Given the description of an element on the screen output the (x, y) to click on. 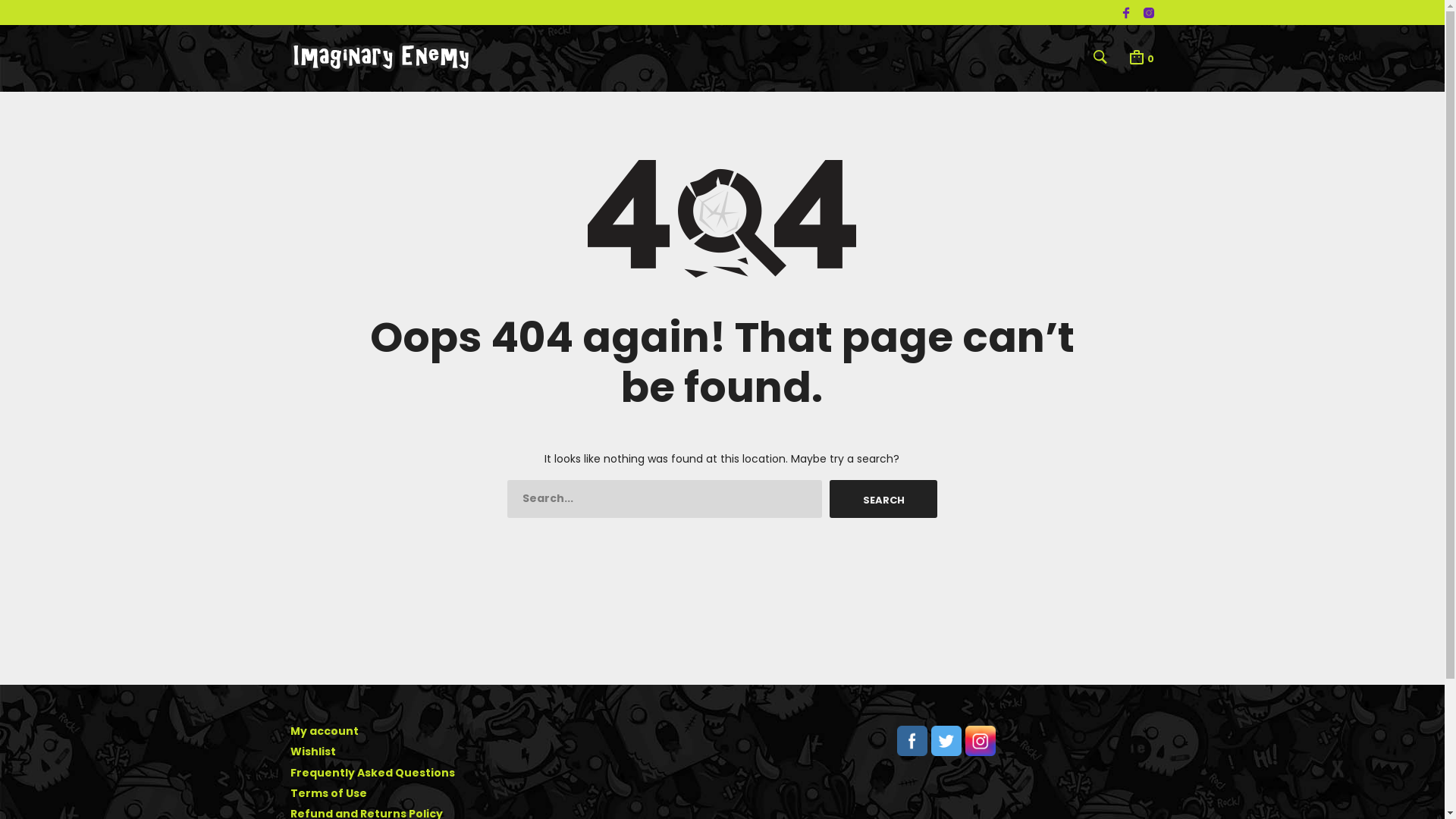
Search Element type: text (883, 498)
0 Element type: text (1140, 56)
My account Element type: text (323, 730)
Facebook Element type: hover (911, 740)
Search Element type: text (985, 392)
Wishlist Element type: text (312, 751)
Twitter Element type: hover (946, 740)
Frequently Asked Questions Element type: text (371, 772)
Terms of Use Element type: text (327, 792)
Pop Culture, Horror, Gaming, Alternative Fashion & Jewellry Element type: hover (380, 58)
Instagram Element type: hover (979, 740)
